Given the description of an element on the screen output the (x, y) to click on. 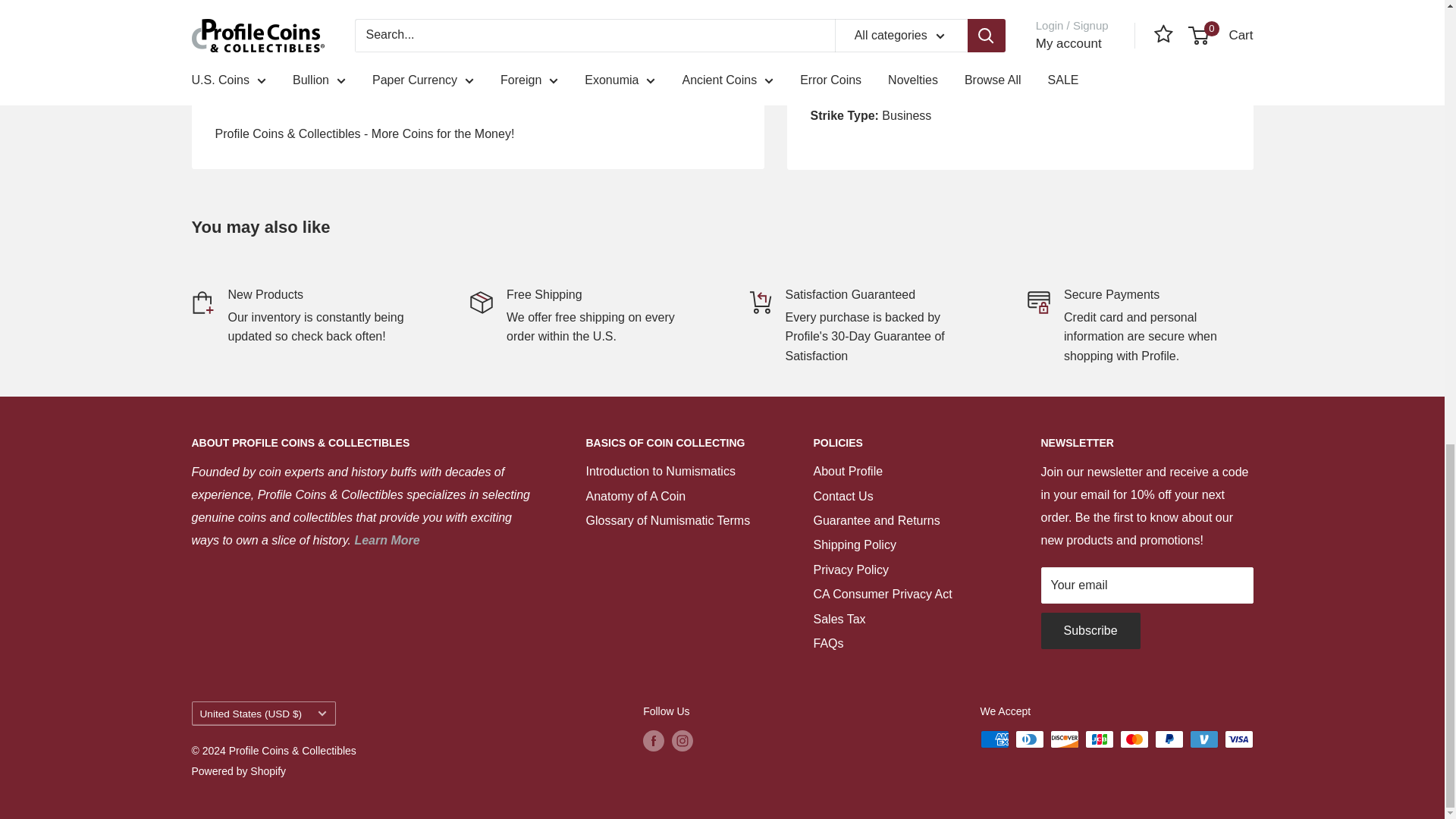
About Profile Coins (386, 540)
